Given the description of an element on the screen output the (x, y) to click on. 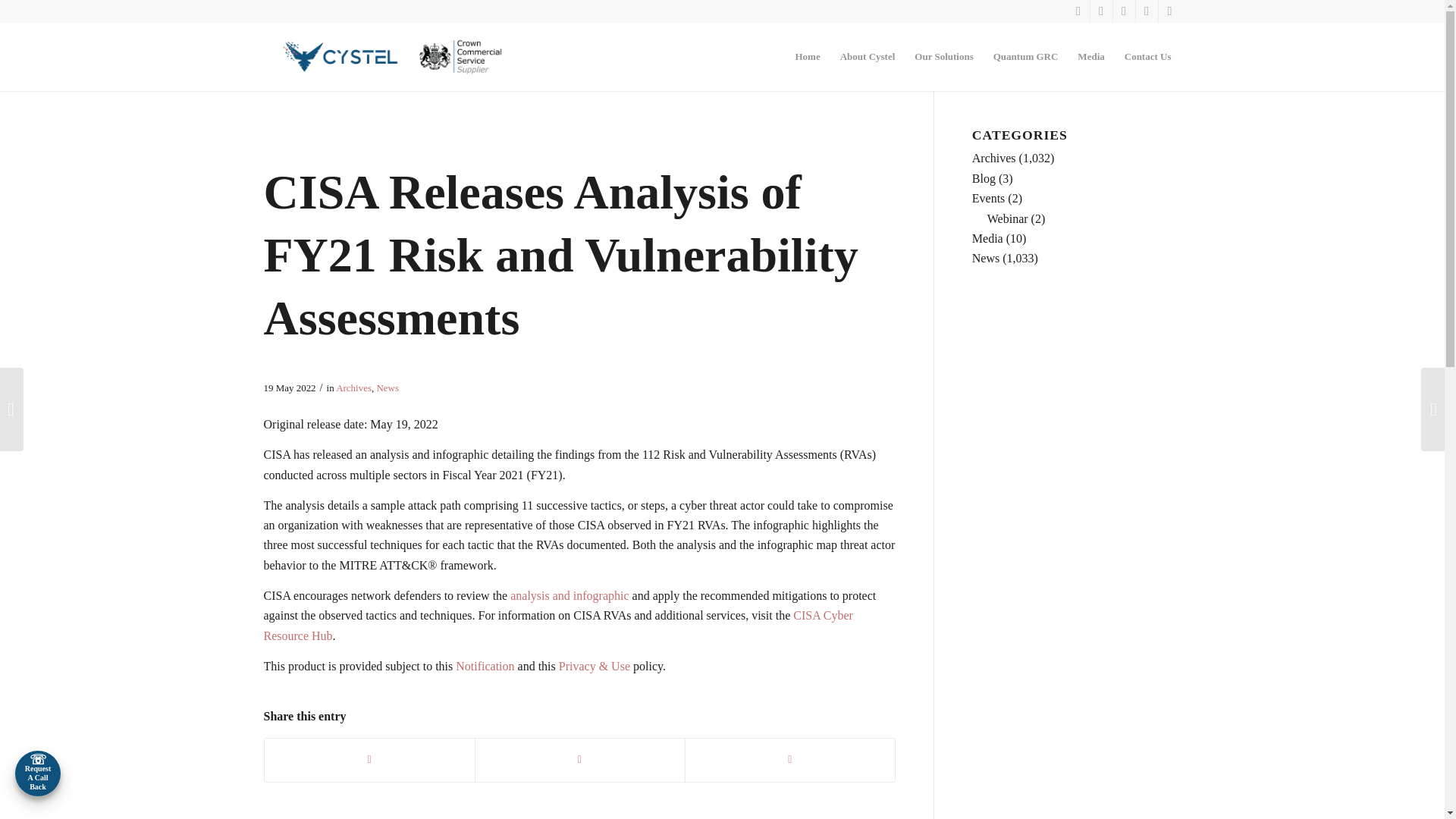
Blog (983, 178)
Notification (484, 666)
News (386, 387)
Contact Us (1147, 56)
Twitter (1124, 11)
LinkedIn (1146, 11)
About Cystel (867, 56)
Our Solutions (943, 56)
CISA Cyber Resource Hub (558, 625)
analysis and infographic (569, 594)
